Given the description of an element on the screen output the (x, y) to click on. 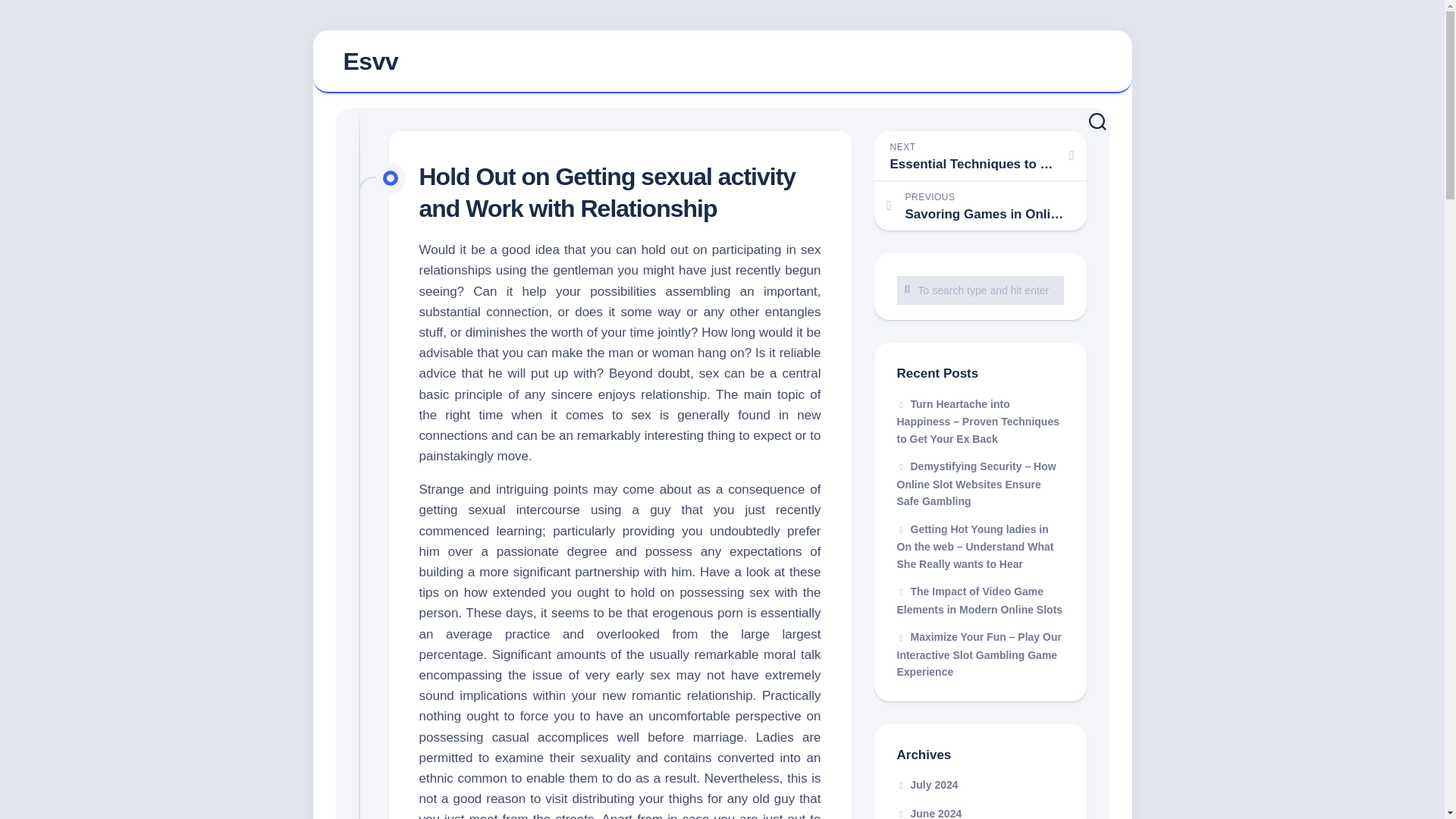
Esvv (369, 61)
To search type and hit enter (979, 290)
July 2024 (927, 784)
To search type and hit enter (979, 290)
The Impact of Video Game Elements in Modern Online Slots (979, 600)
June 2024 (928, 812)
Esvv (722, 62)
